Given the description of an element on the screen output the (x, y) to click on. 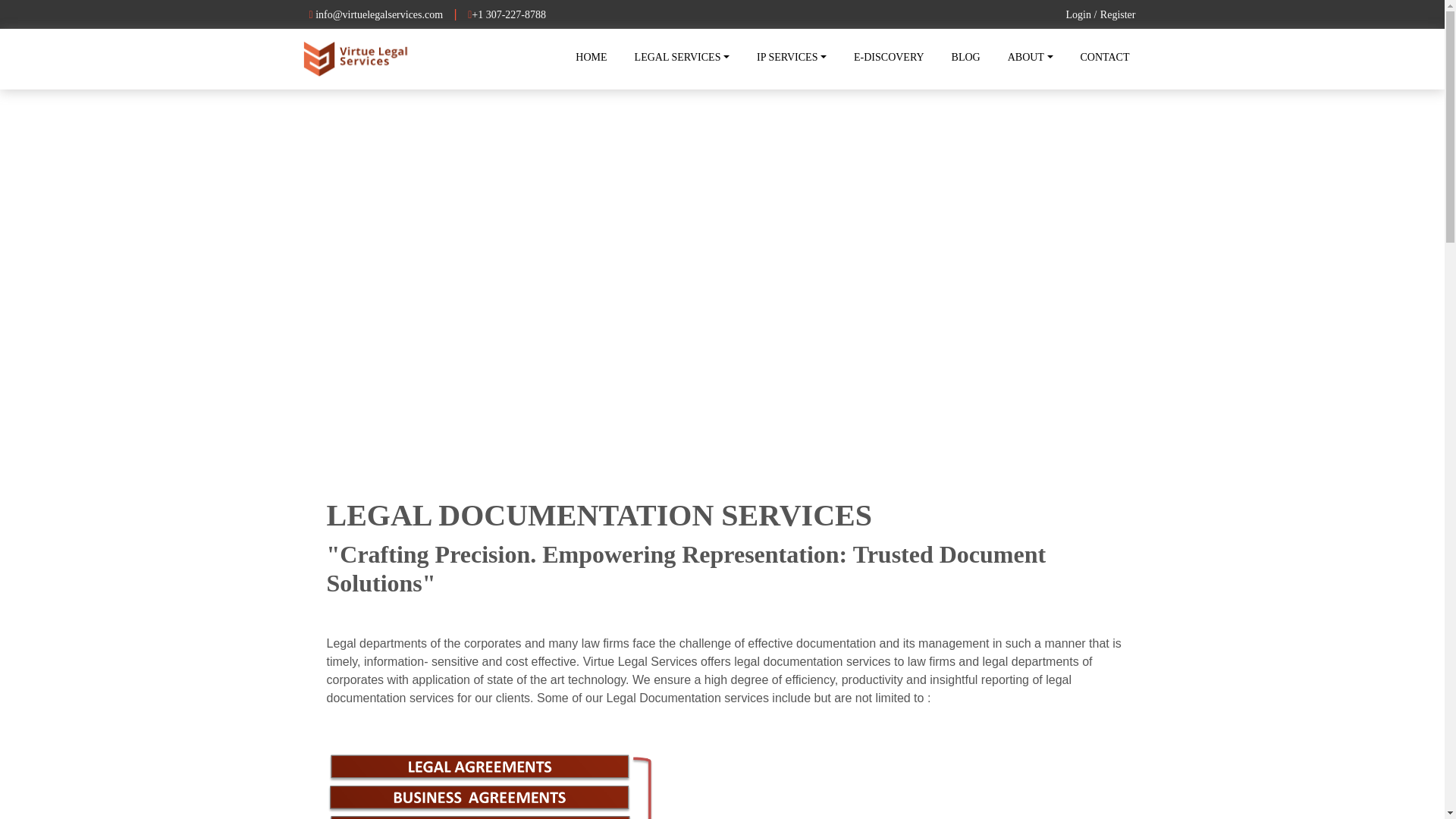
LEGAL SERVICES (681, 57)
Register (1117, 14)
HOME (591, 57)
IP SERVICES (792, 57)
